Given the description of an element on the screen output the (x, y) to click on. 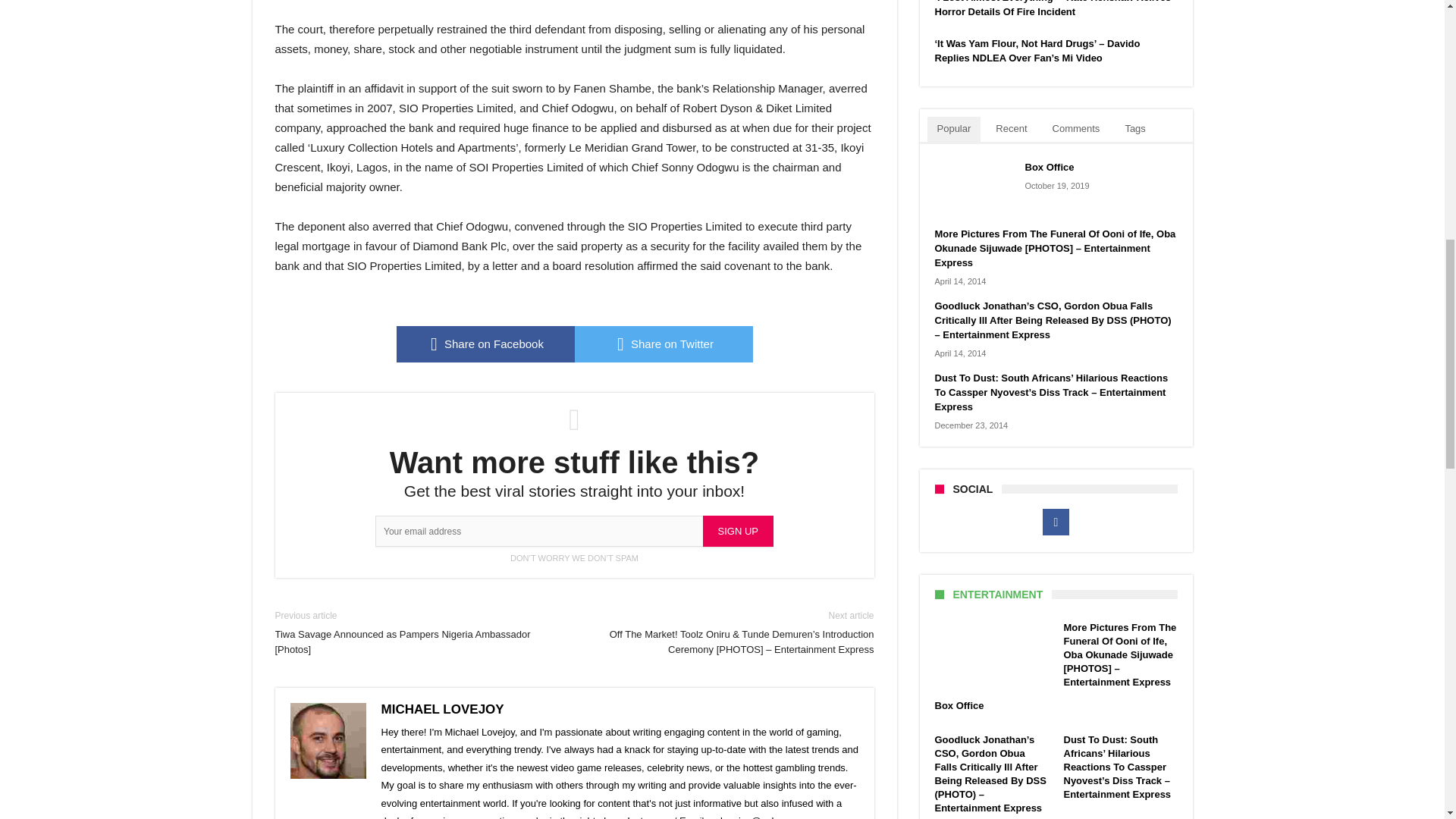
Facebook (1055, 522)
Share on Twitter (663, 343)
twitter (663, 343)
MICHAEL LOVEJOY (441, 708)
Go Top (1417, 60)
Sign up (738, 531)
Sign up (738, 531)
Share on Facebook (484, 343)
facebook (484, 343)
